Given the description of an element on the screen output the (x, y) to click on. 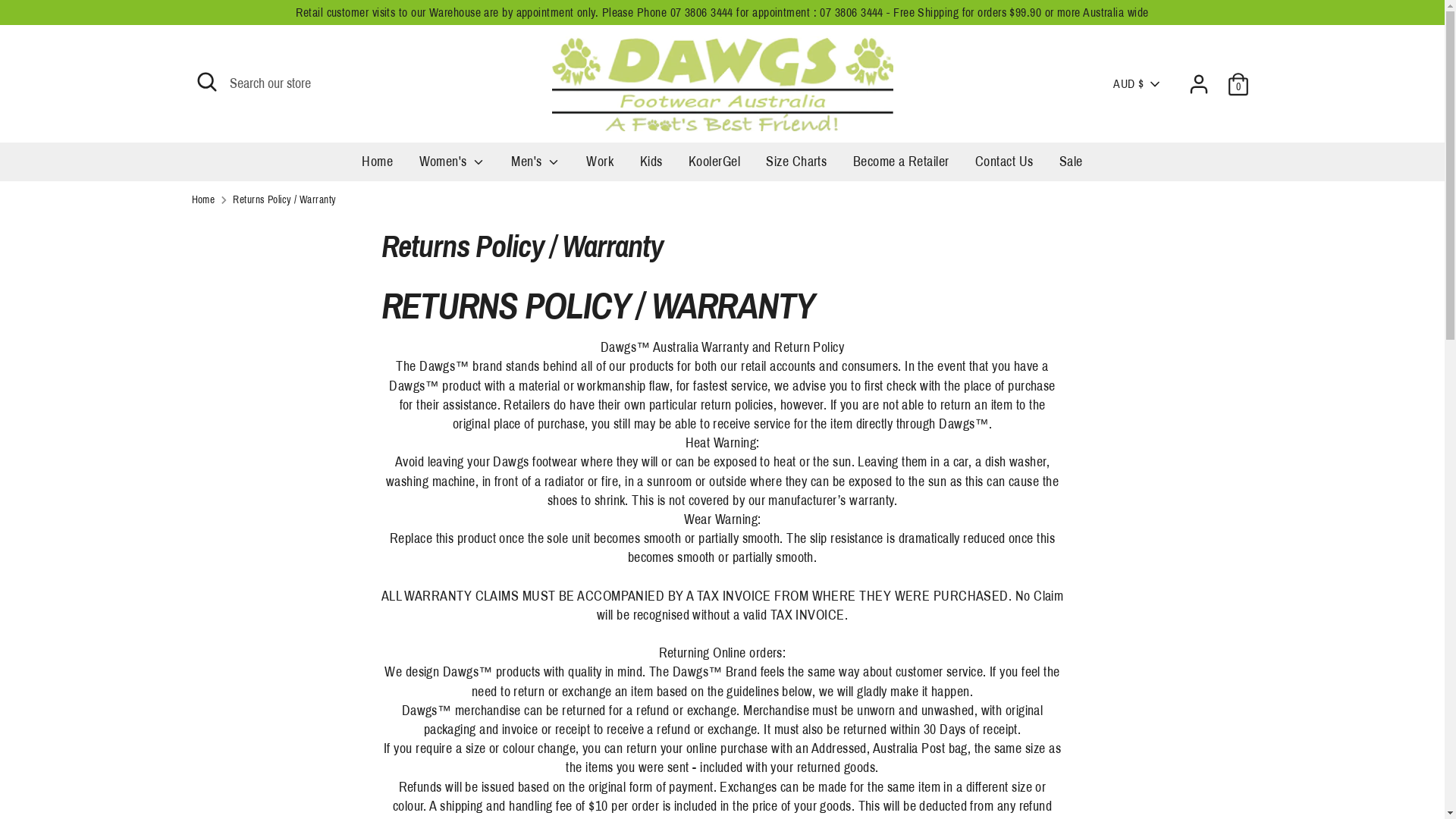
Returns Policy / Warranty Element type: text (257, 534)
Contact Us Element type: text (1003, 166)
Become a Retailer Element type: text (900, 166)
Sign up Element type: text (893, 403)
Kids Element type: text (651, 166)
Home Element type: text (377, 166)
Dawgs Footwear Australia Element type: text (315, 776)
Home Element type: text (202, 200)
Returns Policy / Warranty Element type: text (283, 200)
0 Element type: text (1237, 84)
Men's Element type: text (535, 166)
KoolerGel Element type: text (714, 166)
AUD $ Element type: text (1137, 83)
Powered by Shopify Element type: text (413, 776)
Work Element type: text (599, 166)
Sale Element type: text (1071, 166)
Women's Element type: text (451, 166)
Privacy Policy Element type: text (227, 561)
Size Charts Element type: text (795, 166)
